Given the description of an element on the screen output the (x, y) to click on. 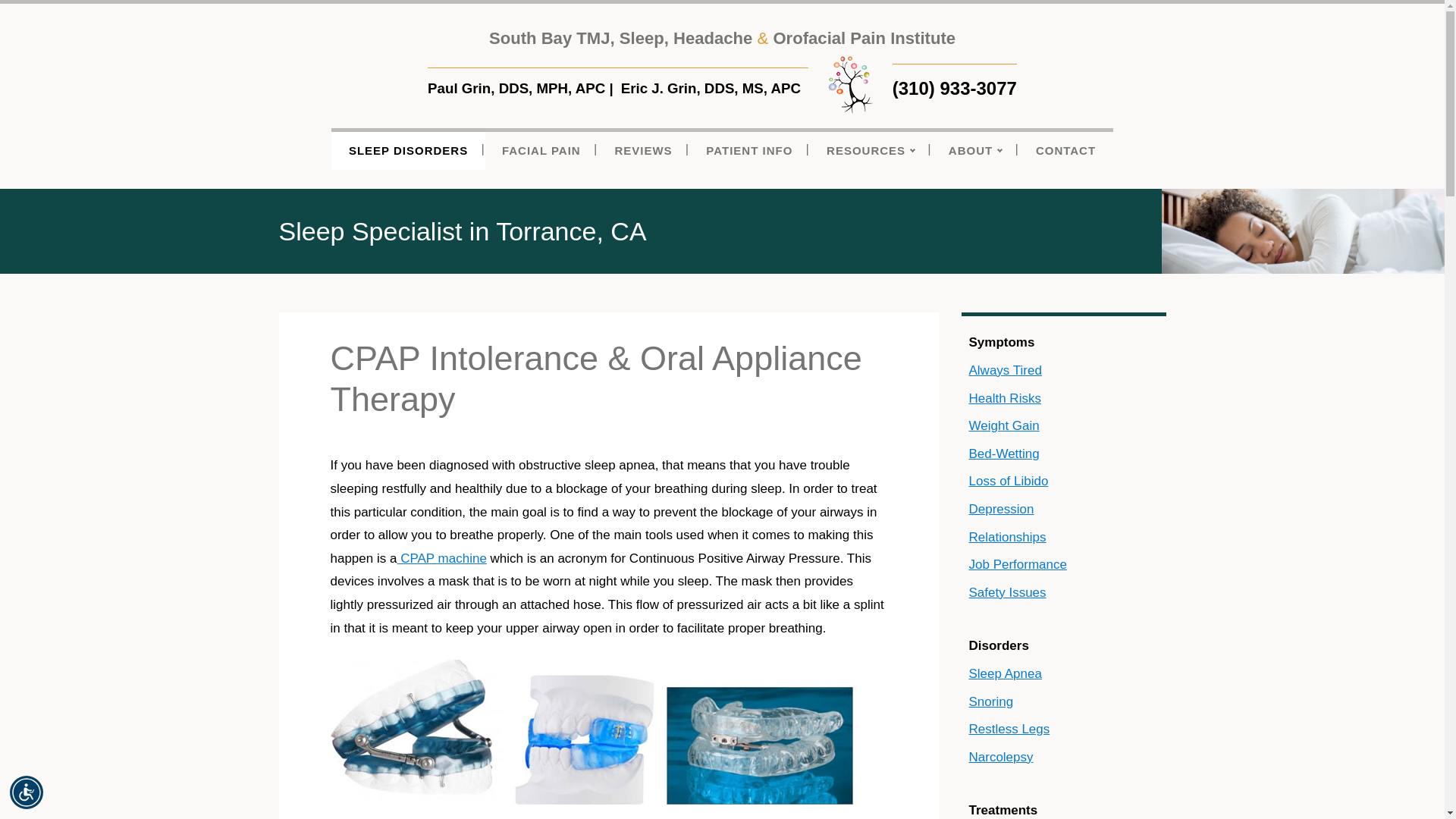
Weight Gain (1063, 426)
Loss of Libido (1063, 481)
Snoring (1063, 702)
Accessibility Menu (26, 792)
CPAP machine (441, 558)
RESOURCES (870, 148)
REVIEWS (642, 148)
CONTACT (1064, 148)
Disorders (1063, 646)
Relationships (1063, 538)
FACIAL PAIN (540, 148)
Bed-Wetting (1063, 454)
Always Tired (1063, 370)
Health Risks (1063, 398)
Symptoms (1063, 343)
